Given the description of an element on the screen output the (x, y) to click on. 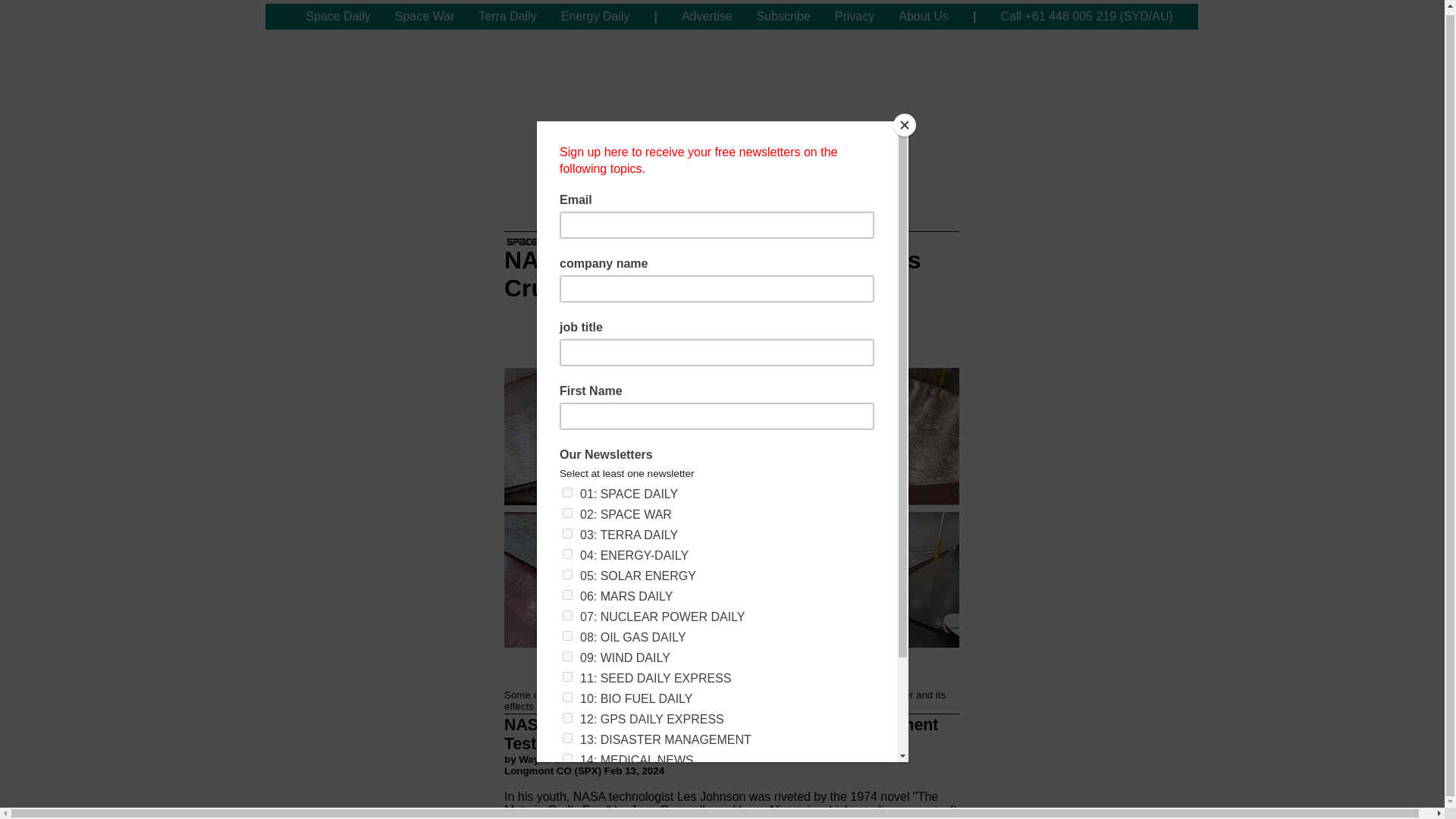
Space War (424, 16)
Energy Daily (595, 16)
- (279, 16)
Advertise (706, 16)
Privacy (854, 16)
Space Daily (337, 16)
Subscribe (783, 16)
Advertisement (731, 99)
Terra Daily (506, 16)
